Given the description of an element on the screen output the (x, y) to click on. 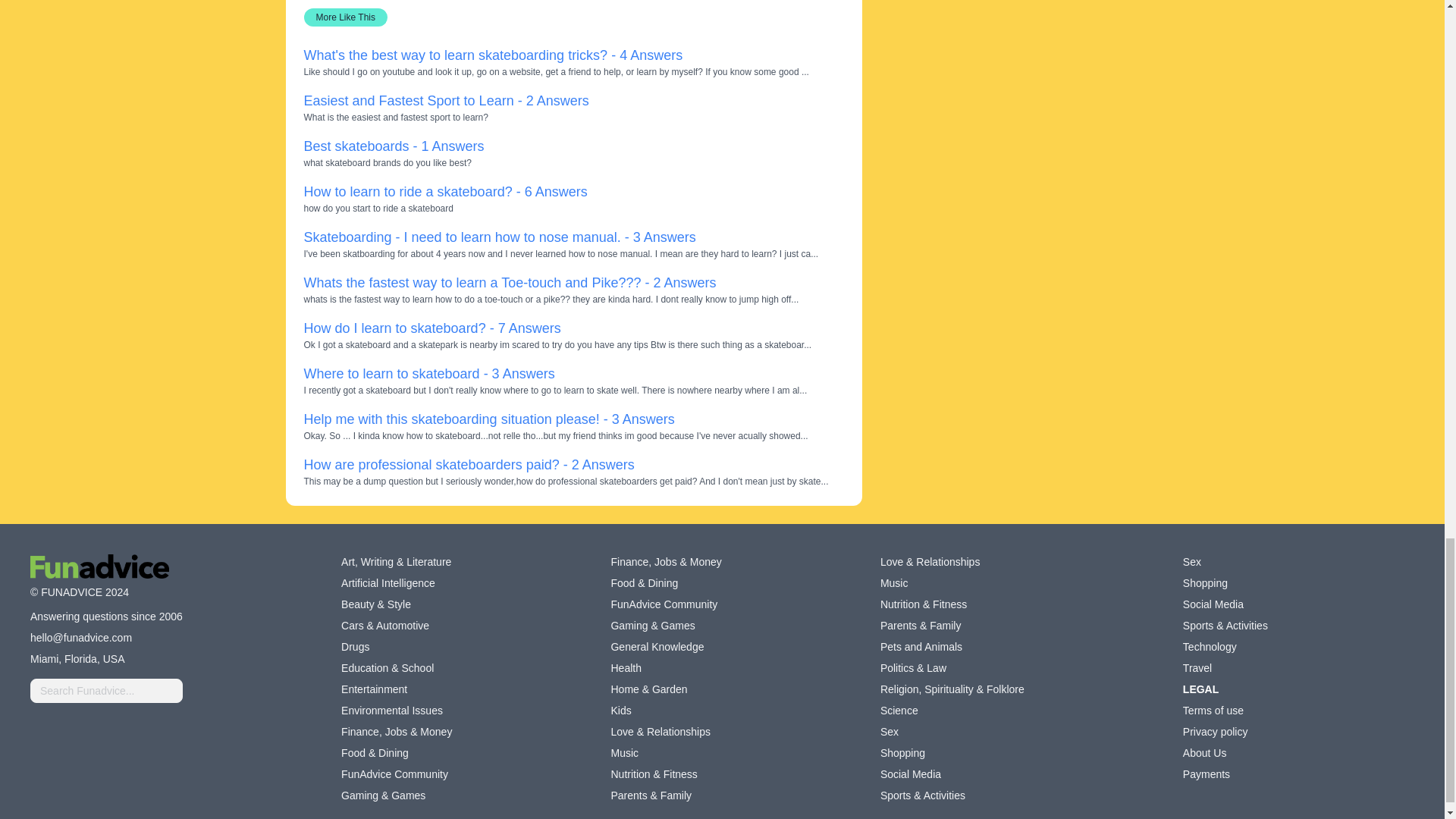
Best skateboards - 1 Answers (392, 145)
How are professional skateboarders paid? - 2 Answers (467, 464)
How do I learn to skateboard? - 7 Answers (431, 328)
Environmental Issues (391, 710)
Entertainment (373, 688)
Easiest and Fastest Sport to Learn - 2 Answers (445, 100)
Drugs (354, 646)
Where to learn to skateboard - 3 Answers (428, 373)
How to learn to ride a skateboard? - 6 Answers (444, 191)
Artificial Intelligence (387, 582)
